Given the description of an element on the screen output the (x, y) to click on. 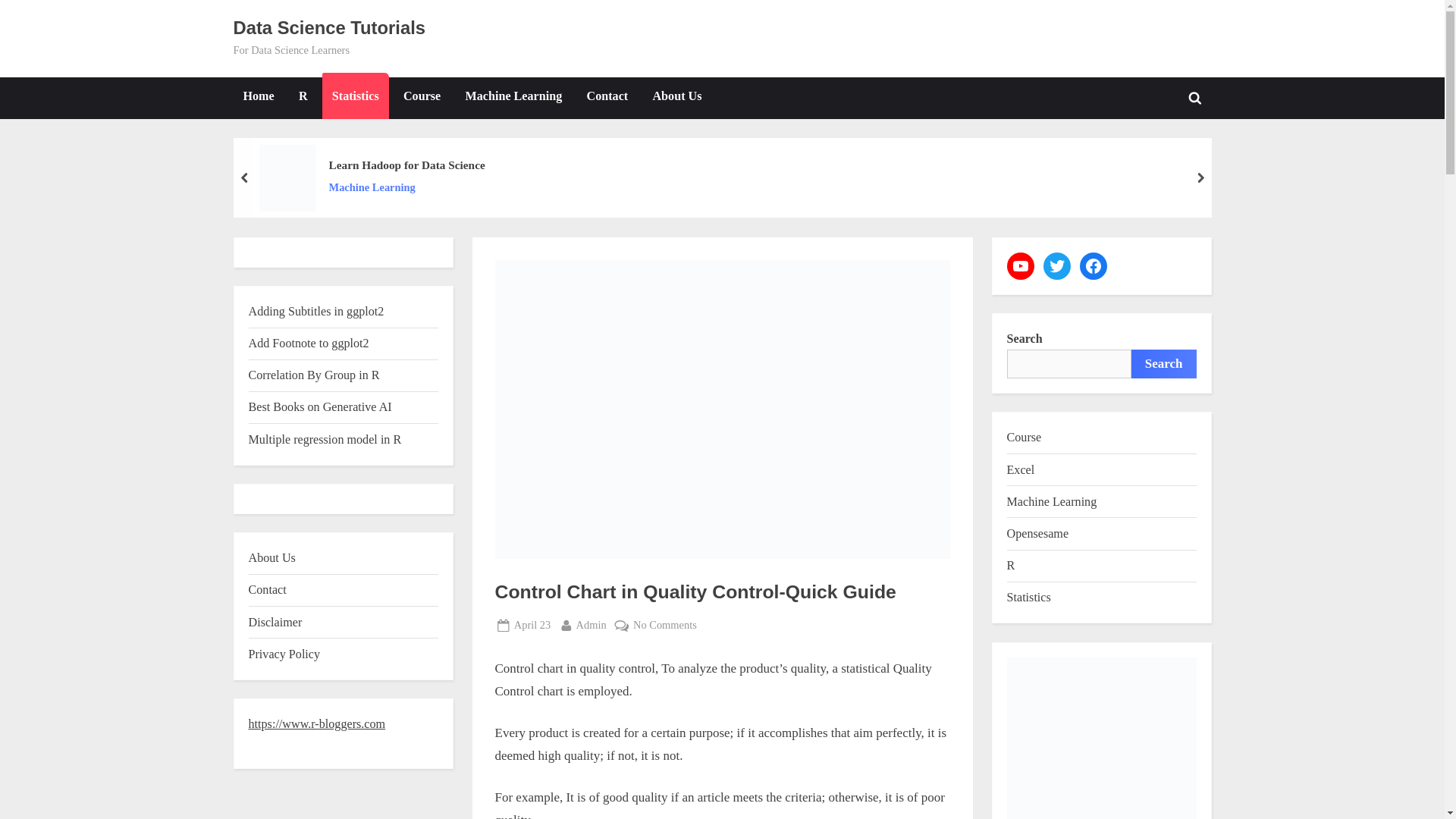
About Us (677, 97)
Toggle search form (1194, 97)
Home (257, 97)
Machine Learning (406, 187)
Machine Learning (513, 97)
Course (421, 97)
Data Science Tutorials (328, 27)
Learn Hadoop for Data Science (665, 624)
